Given the description of an element on the screen output the (x, y) to click on. 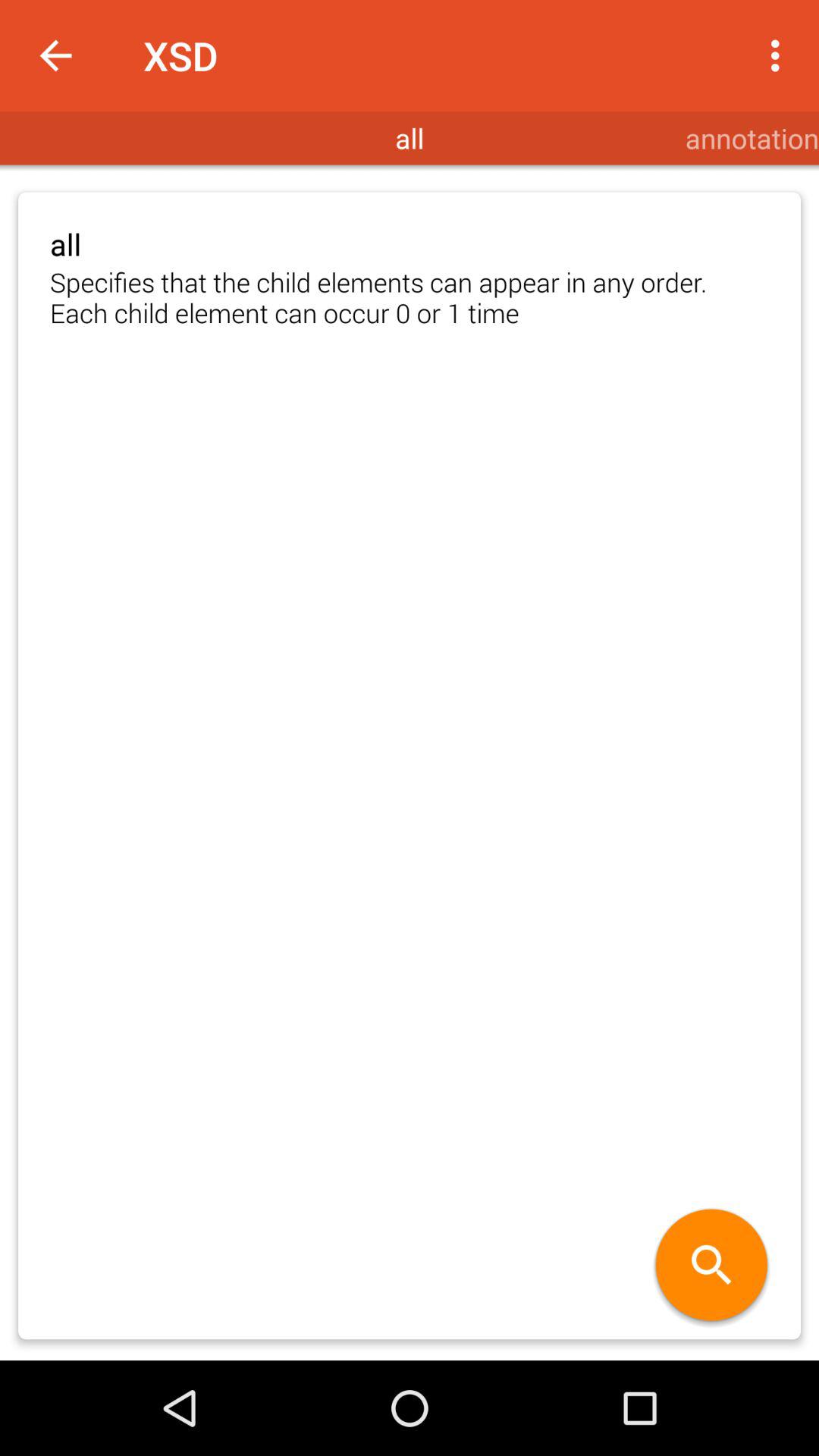
tap the item above annotation item (779, 55)
